Given the description of an element on the screen output the (x, y) to click on. 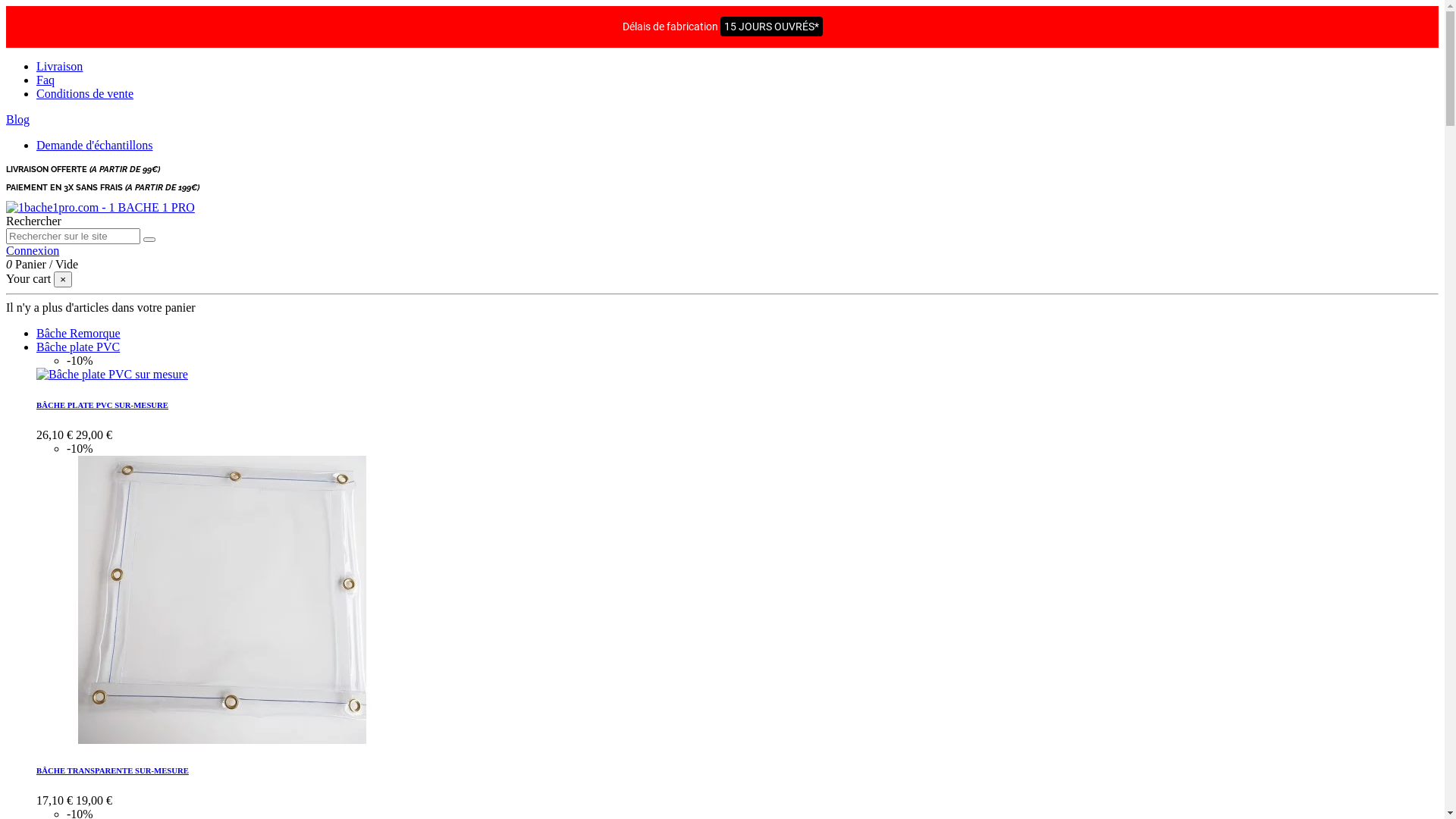
Rechercher Element type: text (33, 220)
Faq Element type: text (45, 79)
Connexion Element type: text (32, 250)
Livraison Element type: text (59, 65)
Blog Element type: text (17, 118)
0 Panier / Vide Element type: text (42, 263)
Conditions de vente Element type: text (84, 93)
